Given the description of an element on the screen output the (x, y) to click on. 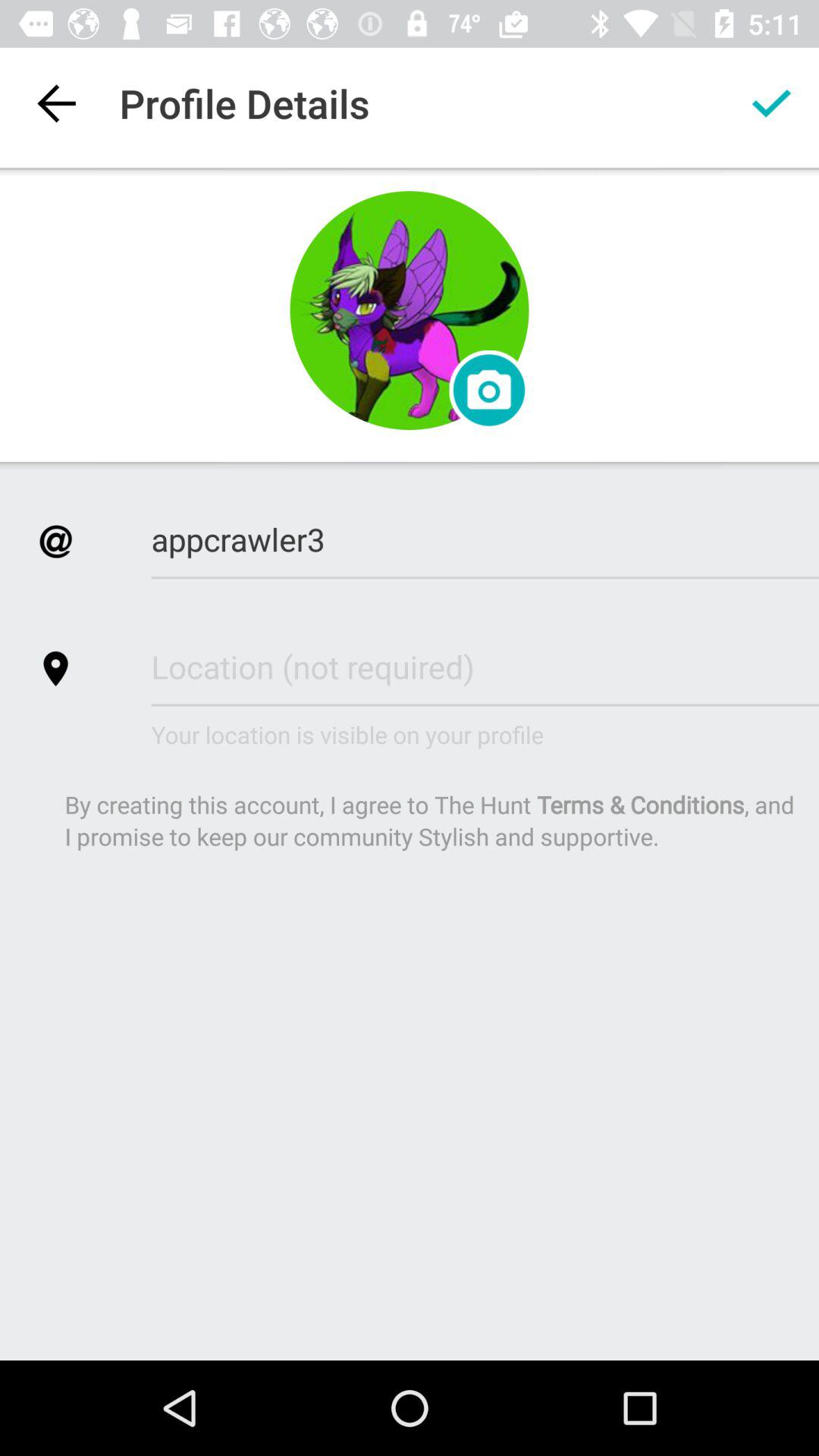
click appcrawler3 (485, 539)
select the image (409, 309)
click on the camera icon (489, 389)
click the icon which is left of the appcrawler3 (55, 542)
select the text next to the location icon (485, 666)
